Given the description of an element on the screen output the (x, y) to click on. 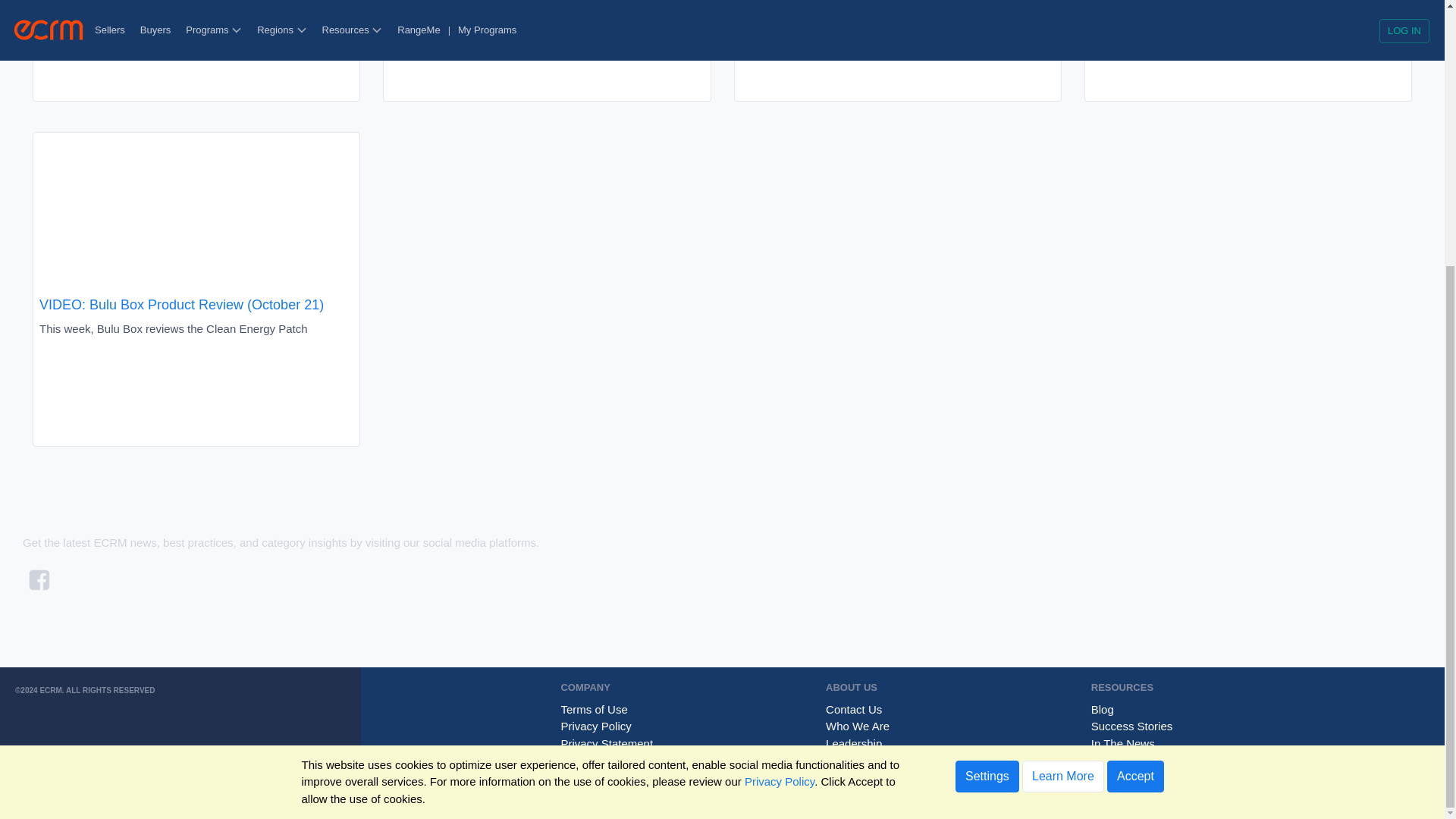
Privacy Statement (611, 743)
Trademarks (595, 777)
Terms of Use (599, 708)
Who We Are (863, 725)
Travel Policy (598, 759)
Contact Us (859, 708)
Leadership (859, 743)
Privacy Policy (601, 725)
